Given the description of an element on the screen output the (x, y) to click on. 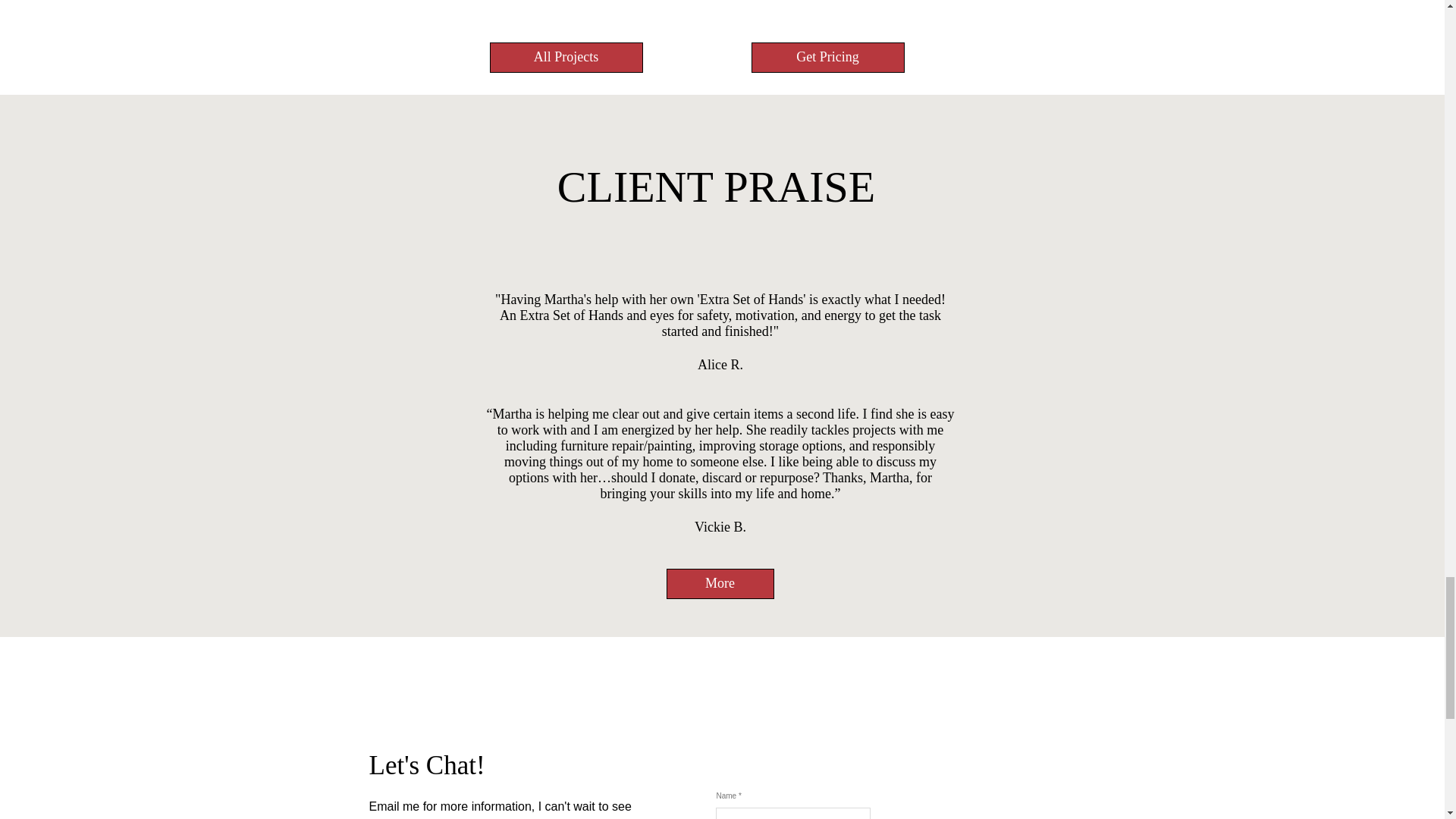
More (719, 583)
Get Pricing (827, 57)
All Projects (566, 57)
